Given the description of an element on the screen output the (x, y) to click on. 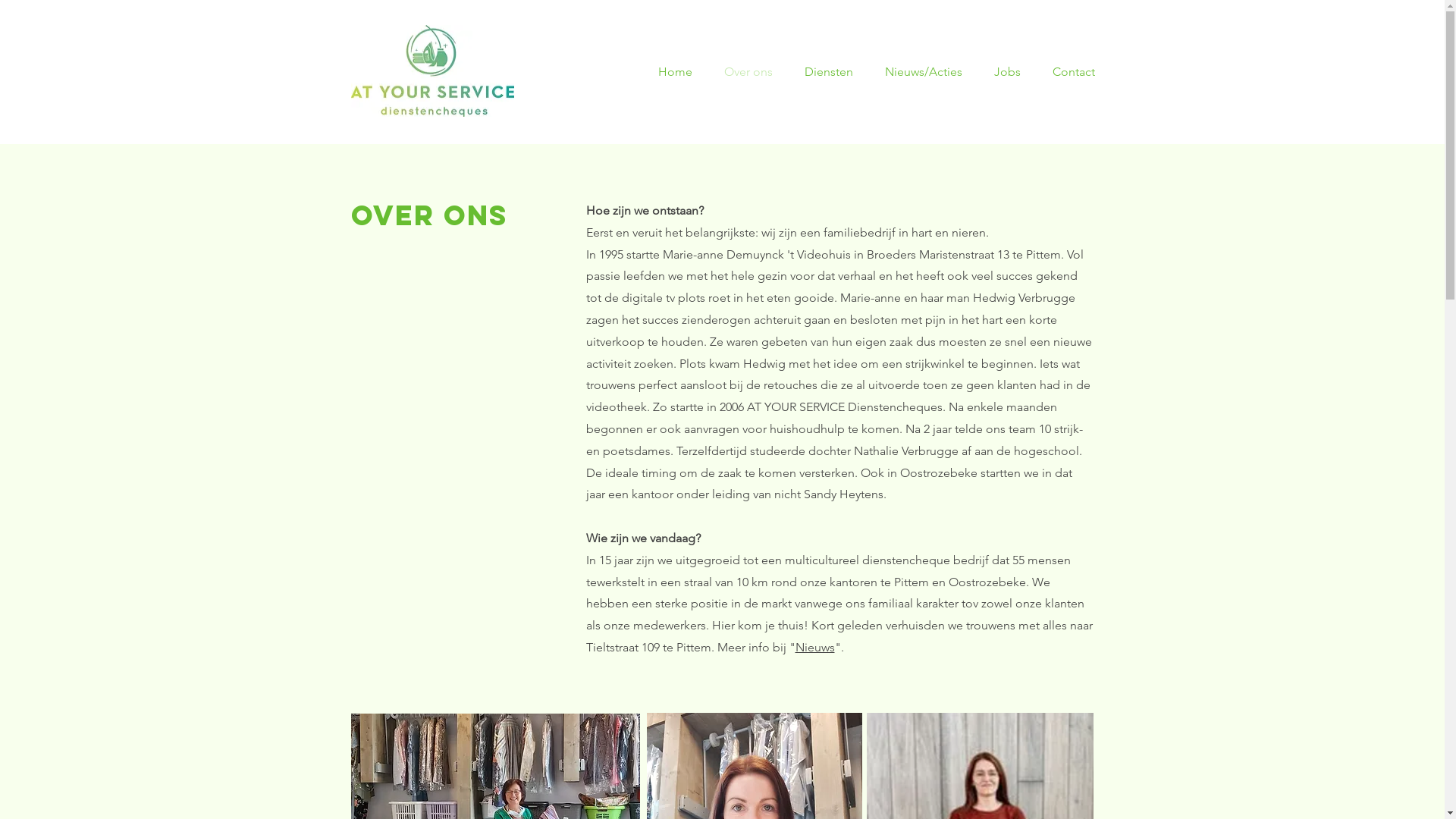
Over ons Element type: text (752, 72)
Nieuws Element type: text (814, 647)
Nieuws/Acties Element type: text (927, 72)
Diensten Element type: text (833, 72)
Contact Element type: text (1076, 72)
Jobs Element type: text (1011, 72)
Home Element type: text (679, 72)
